Given the description of an element on the screen output the (x, y) to click on. 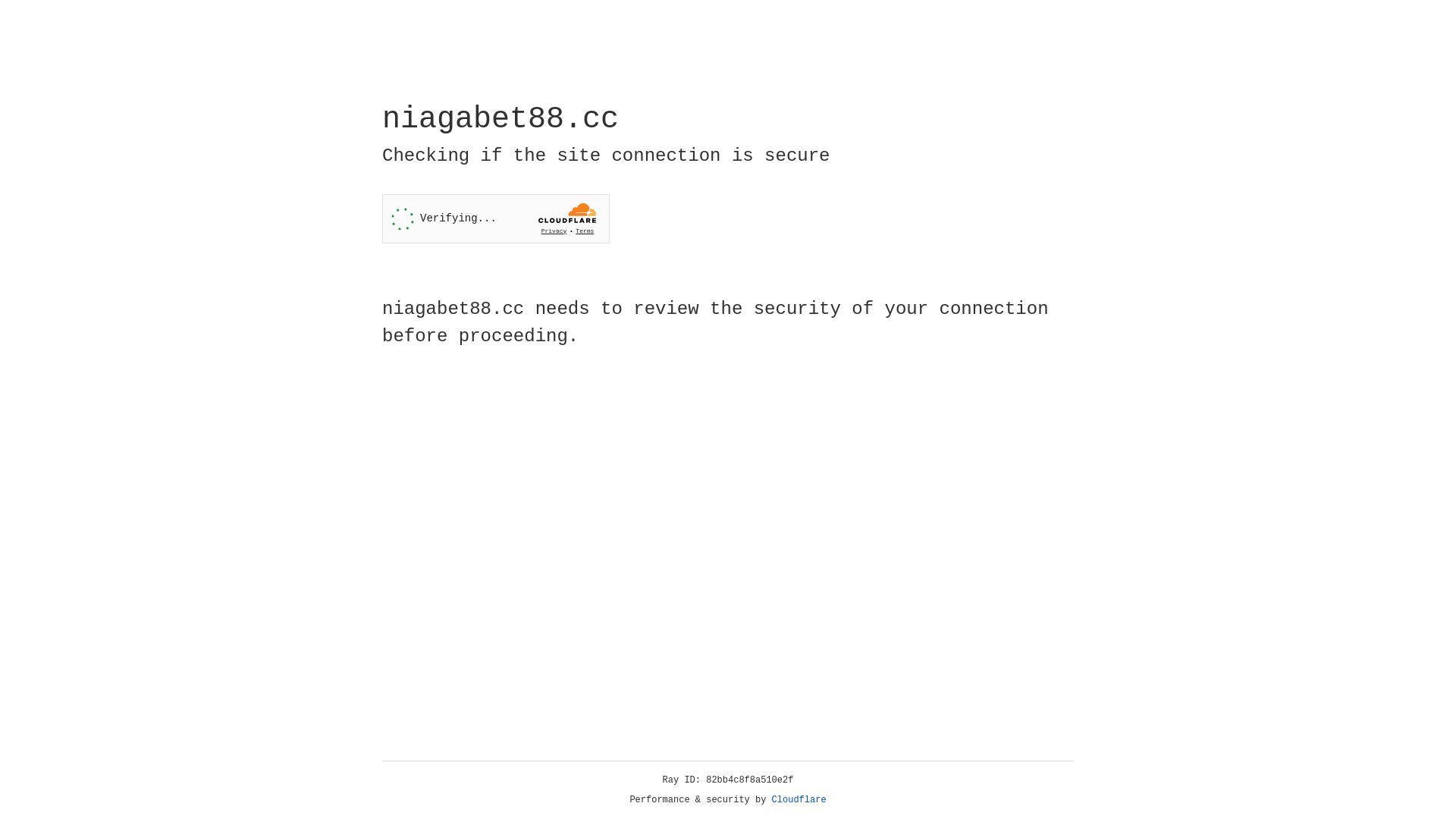
Cloudflare Element type: text (798, 799)
Widget containing a Cloudflare security challenge Element type: hover (495, 218)
